Given the description of an element on the screen output the (x, y) to click on. 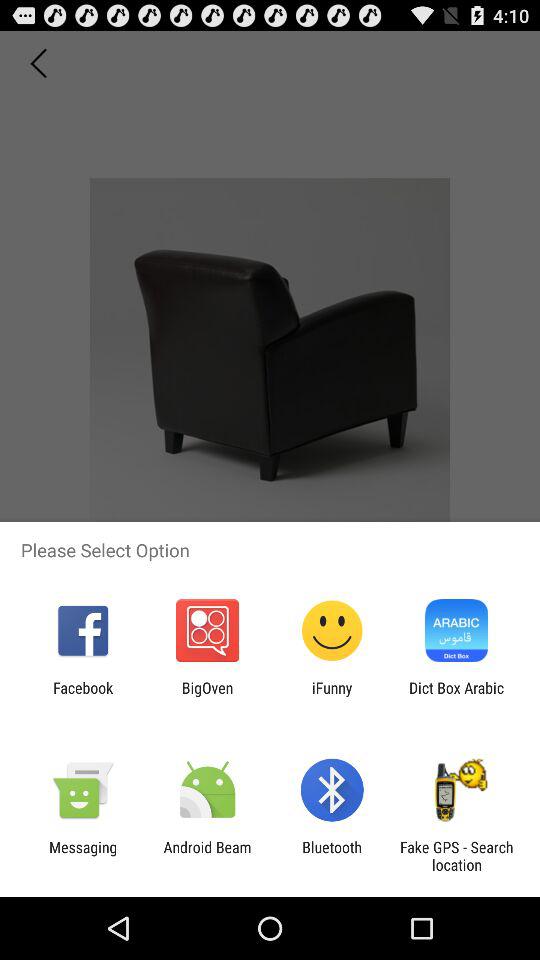
jump to bigoven icon (207, 696)
